Given the description of an element on the screen output the (x, y) to click on. 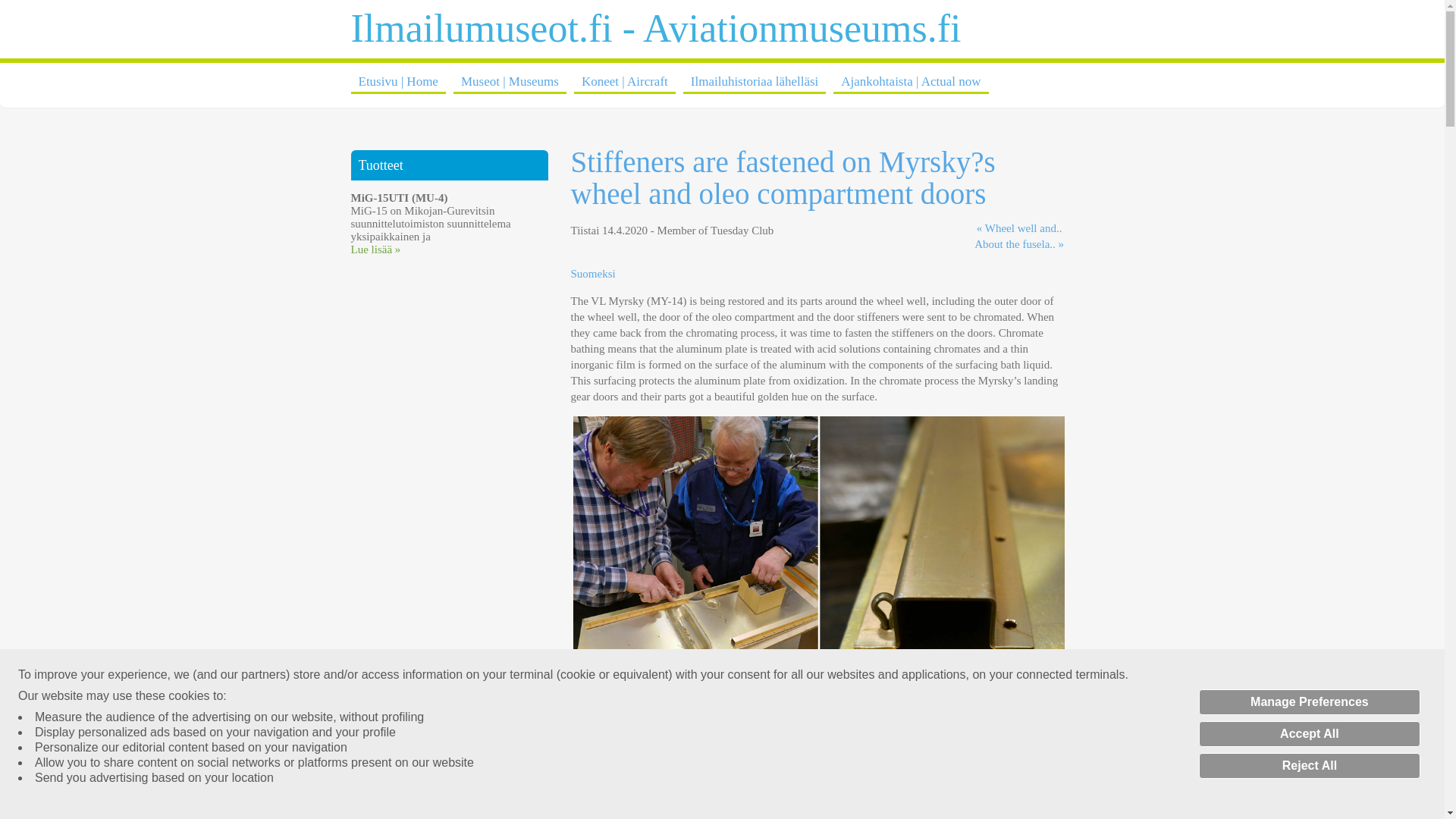
Reject All (1309, 765)
Accept All (1309, 733)
Manage Preferences (1309, 701)
